Given the description of an element on the screen output the (x, y) to click on. 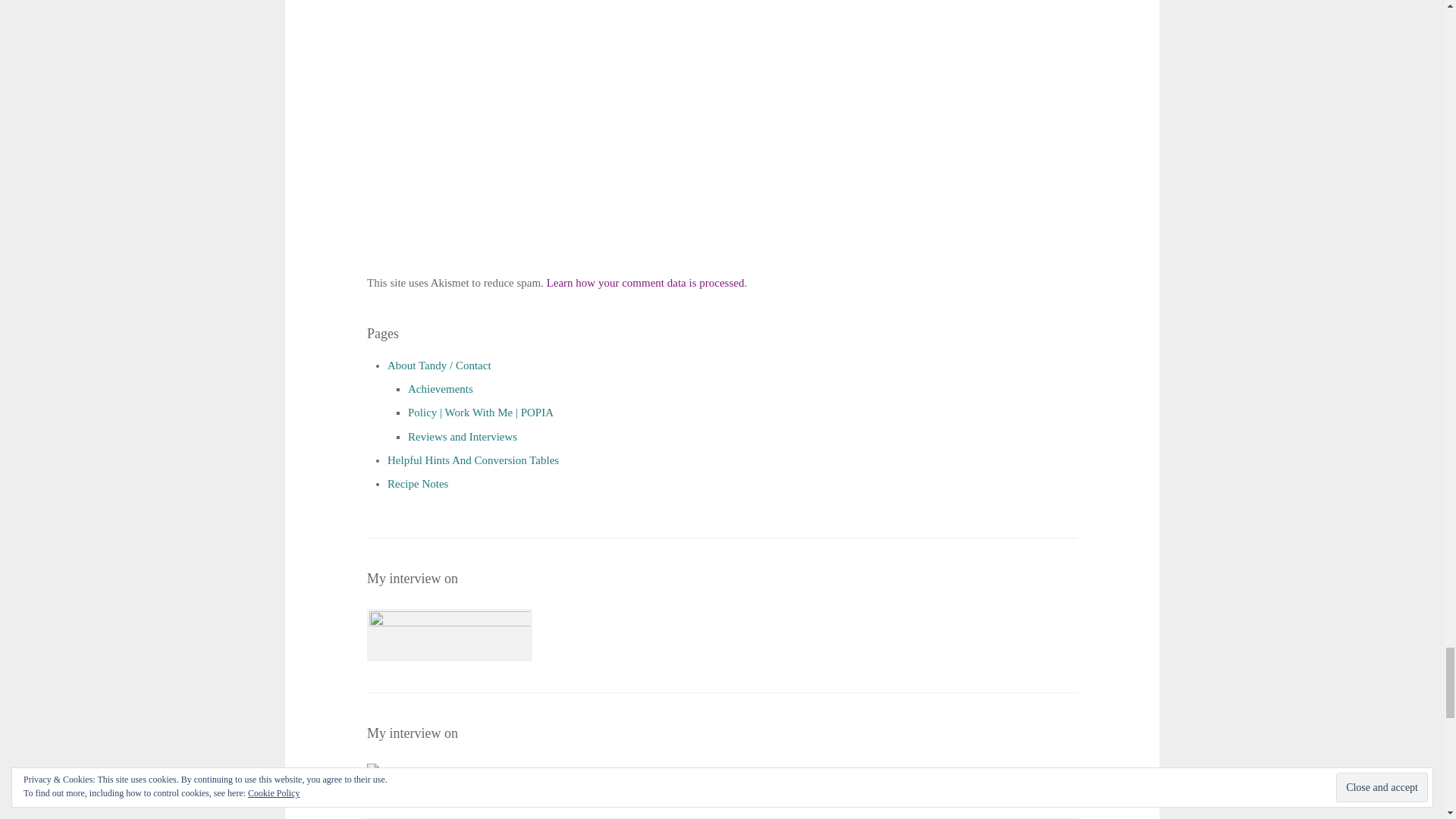
Comment Form (615, 133)
